Given the description of an element on the screen output the (x, y) to click on. 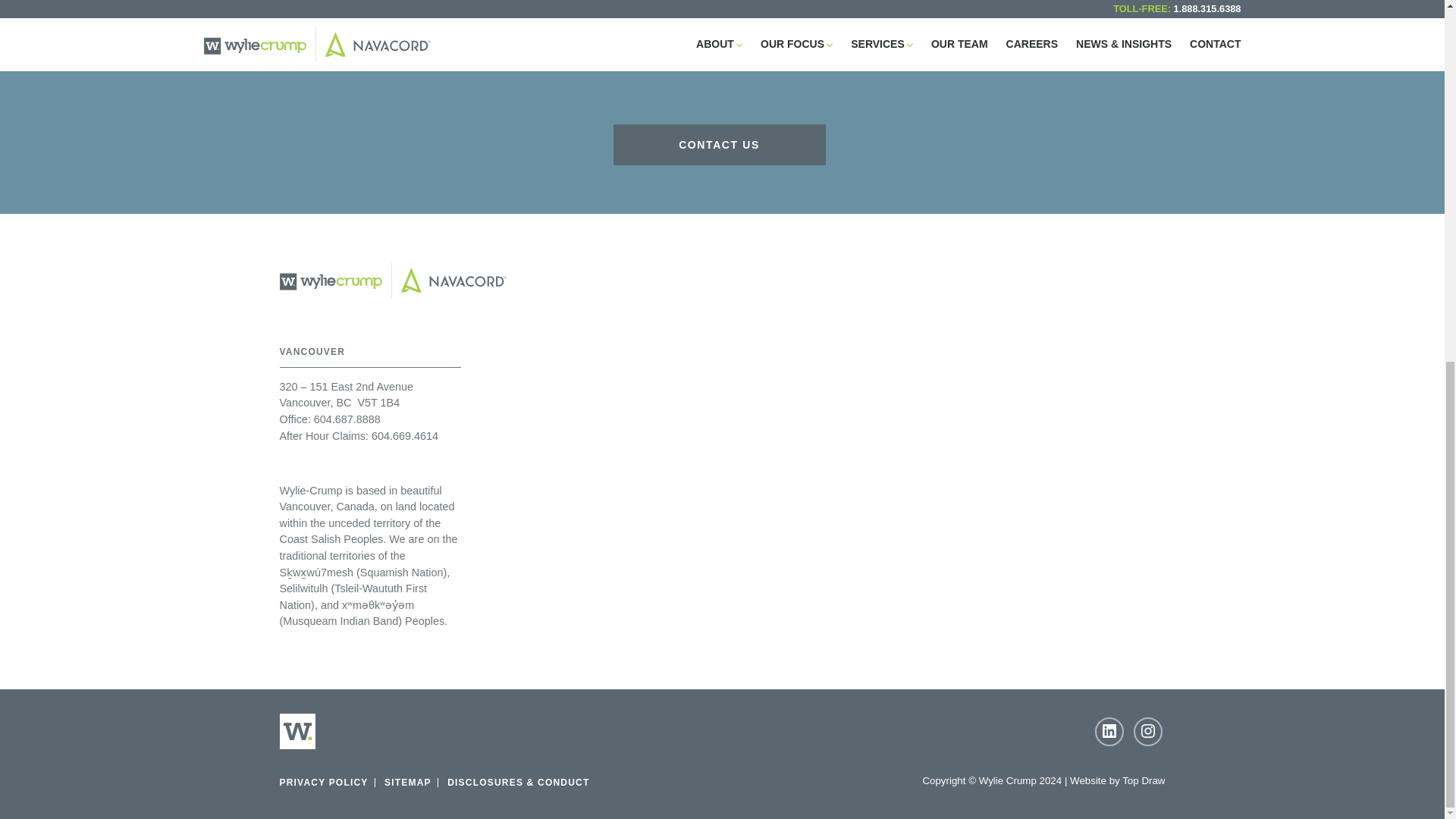
After Hour Claims: 604.669.4614 (358, 435)
CONTACT US (718, 144)
LinkedIn (1109, 731)
604.687.8888 (347, 419)
Office: (294, 419)
PRIVACY POLICY (323, 782)
Instagram (1146, 731)
SITEMAP (407, 782)
Top Draw (1143, 780)
